Given the description of an element on the screen output the (x, y) to click on. 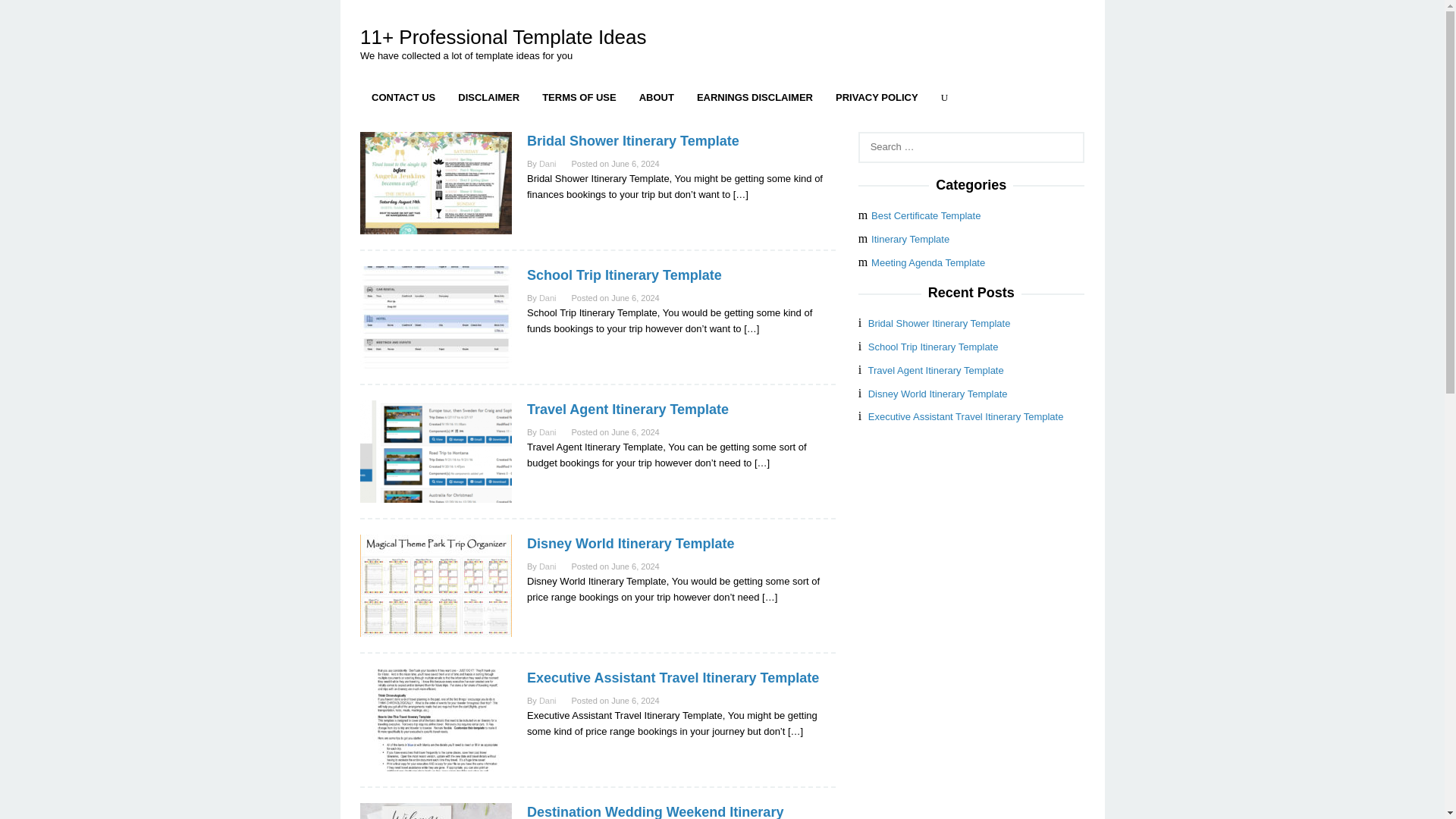
PRIVACY POLICY (877, 97)
Permalink to: Dani (547, 297)
TERMS OF USE (579, 97)
Dani (547, 163)
School Trip Itinerary Template (624, 274)
EARNINGS DISCLAIMER (754, 97)
Permalink to: Dani (547, 163)
Bridal Shower Itinerary Template (633, 140)
Dani (547, 297)
Permalink to: School Trip Itinerary Template (624, 274)
Disney World Itinerary Template (630, 543)
Permalink to: Bridal Shower Itinerary Template (633, 140)
Permalink to: Dani (547, 431)
Executive Assistant Travel Itinerary Template (672, 677)
